Given the description of an element on the screen output the (x, y) to click on. 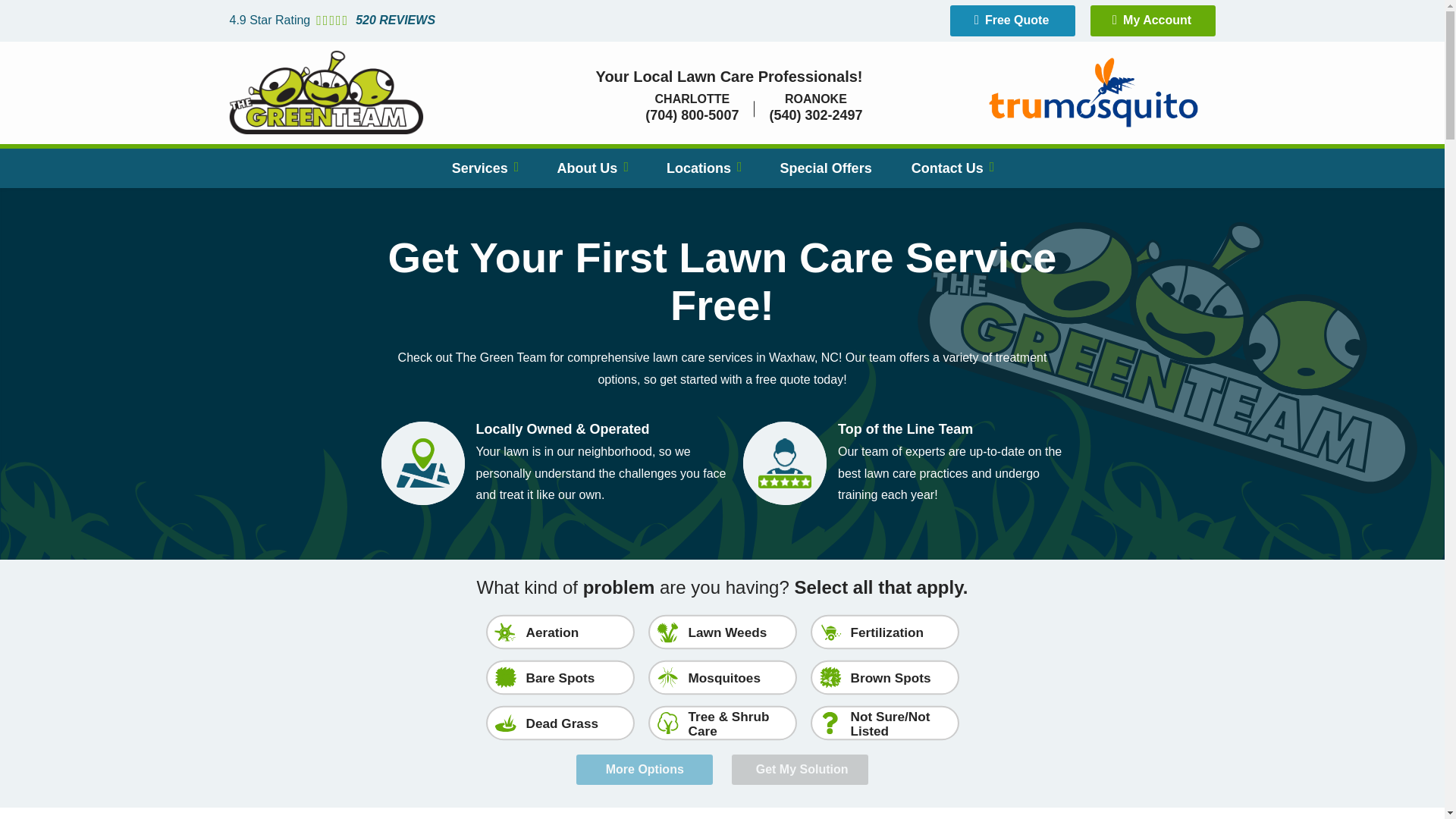
Get My Solution (799, 769)
More Options (644, 769)
